Given the description of an element on the screen output the (x, y) to click on. 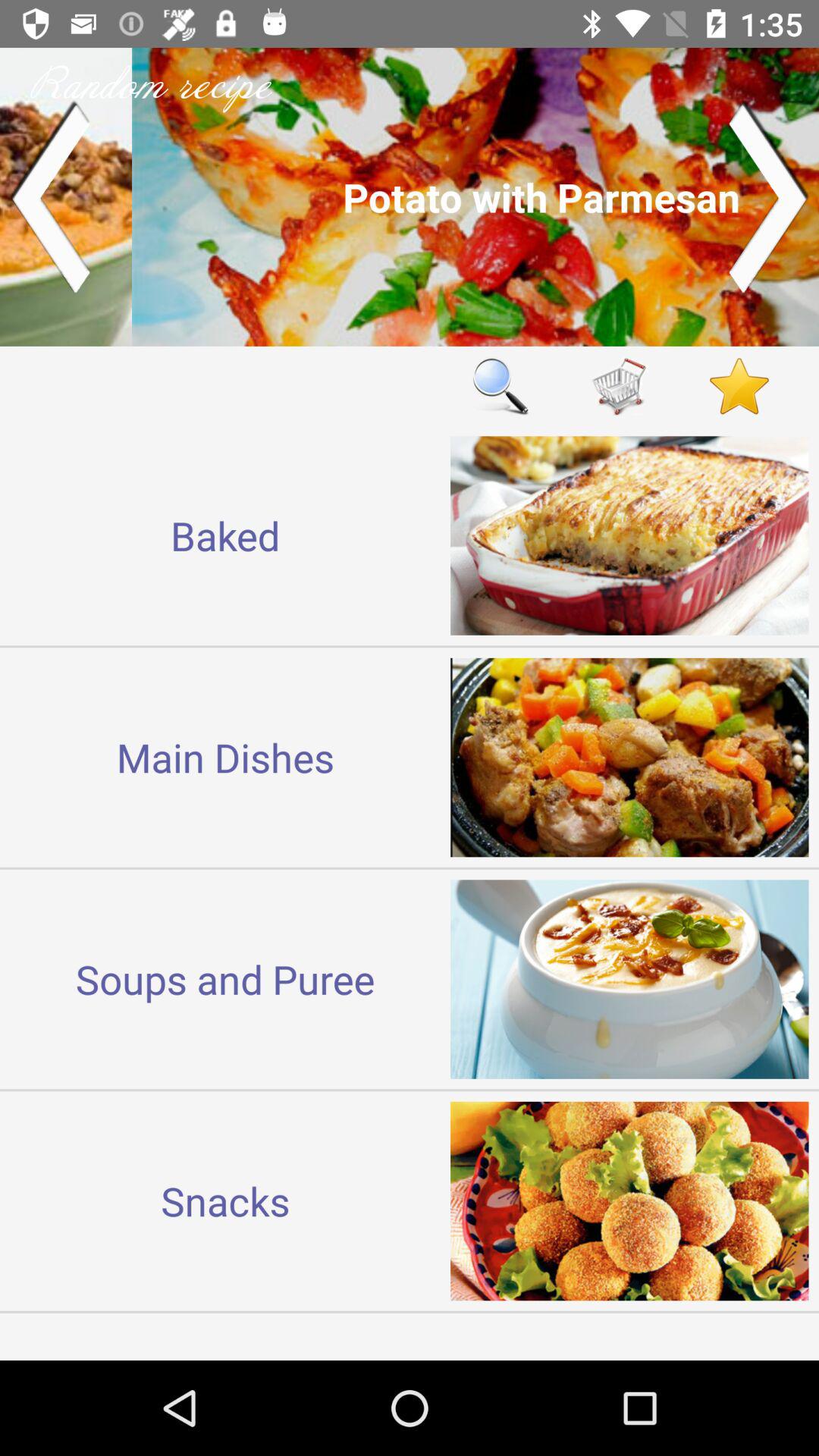
swipe until the soups and puree icon (225, 978)
